Given the description of an element on the screen output the (x, y) to click on. 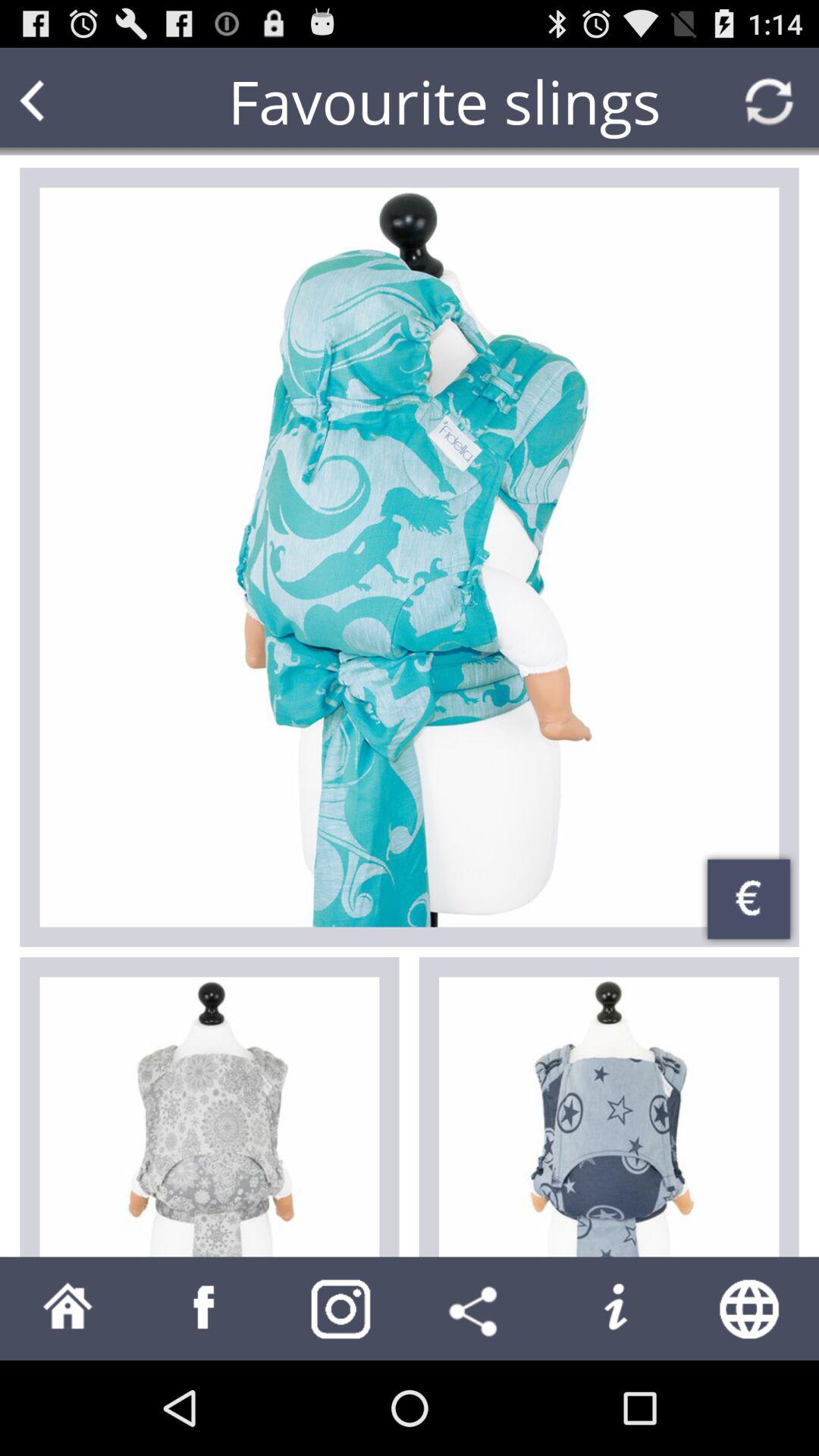
select item (209, 1116)
